Given the description of an element on the screen output the (x, y) to click on. 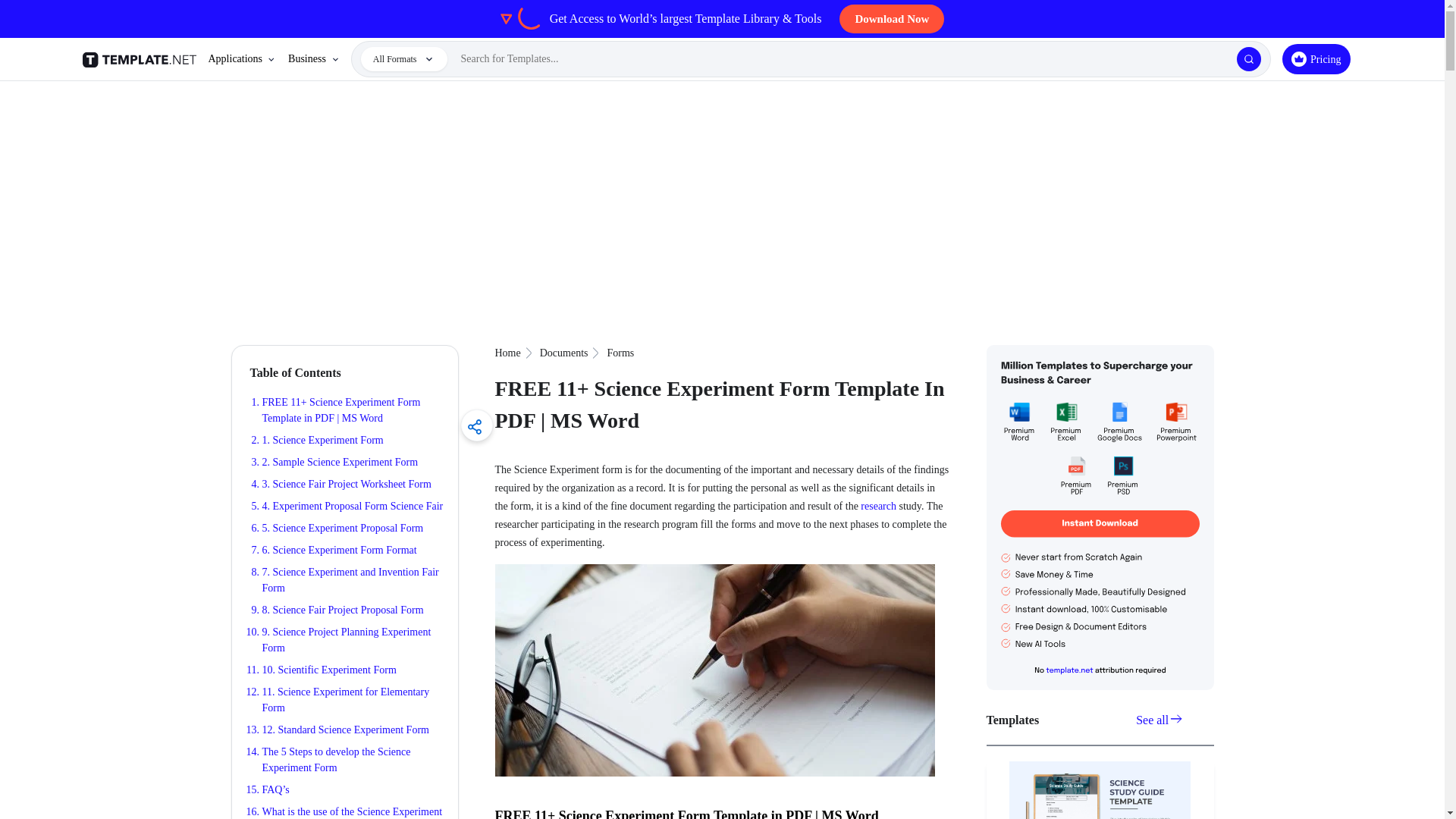
Download Now (891, 18)
2. Sample Science Experiment Form (340, 461)
Pricing (1315, 59)
3. Science Fair Project Worksheet Form (346, 483)
Template.net (141, 59)
1. Science Experiment Form (323, 439)
